Given the description of an element on the screen output the (x, y) to click on. 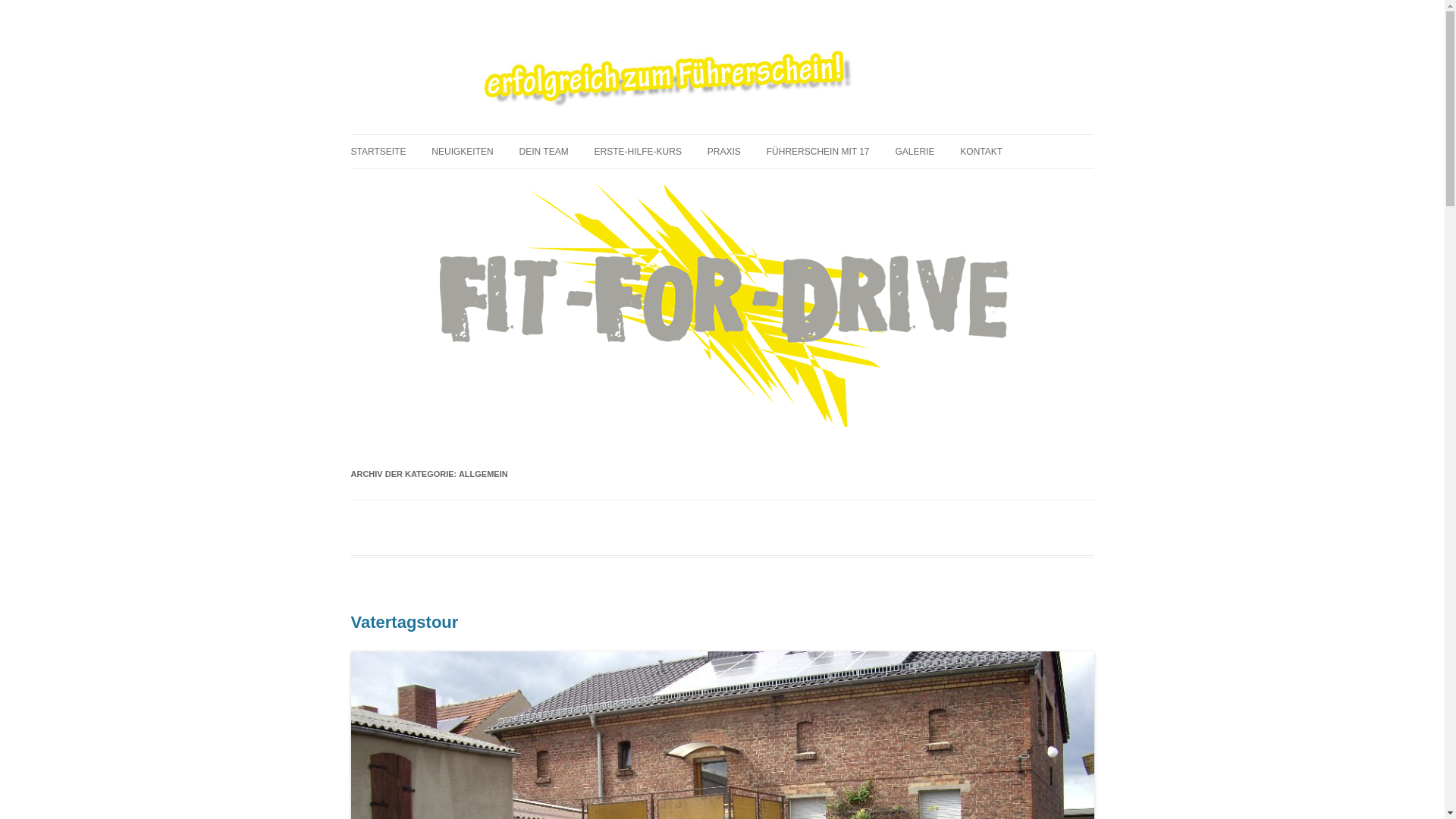
KONTAKT Element type: text (981, 151)
NEUIGKEITEN Element type: text (461, 151)
STARTSEITE Element type: text (377, 151)
Springe zum Inhalt Element type: text (721, 134)
GALERIE Element type: text (914, 151)
DEIN TEAM Element type: text (543, 151)
ERSTE-HILFE-KURS Element type: text (637, 151)
PRAXIS Element type: text (723, 151)
Vatertagstour Element type: text (404, 621)
